Given the description of an element on the screen output the (x, y) to click on. 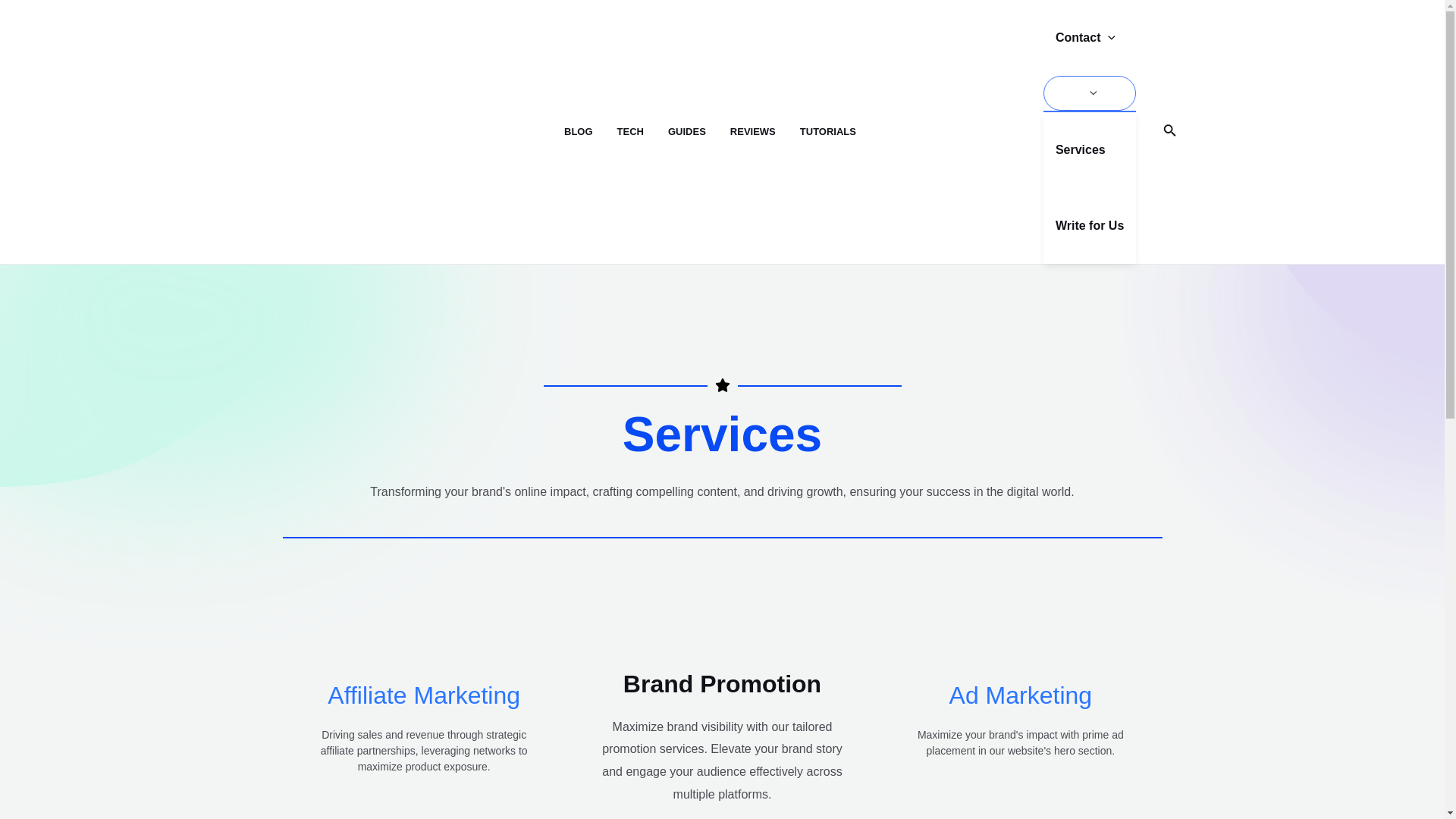
Services (1089, 150)
REVIEWS (764, 131)
Menu Toggle (1089, 93)
Write for Us (1089, 225)
TUTORIALS (839, 131)
Contact (1089, 38)
